Given the description of an element on the screen output the (x, y) to click on. 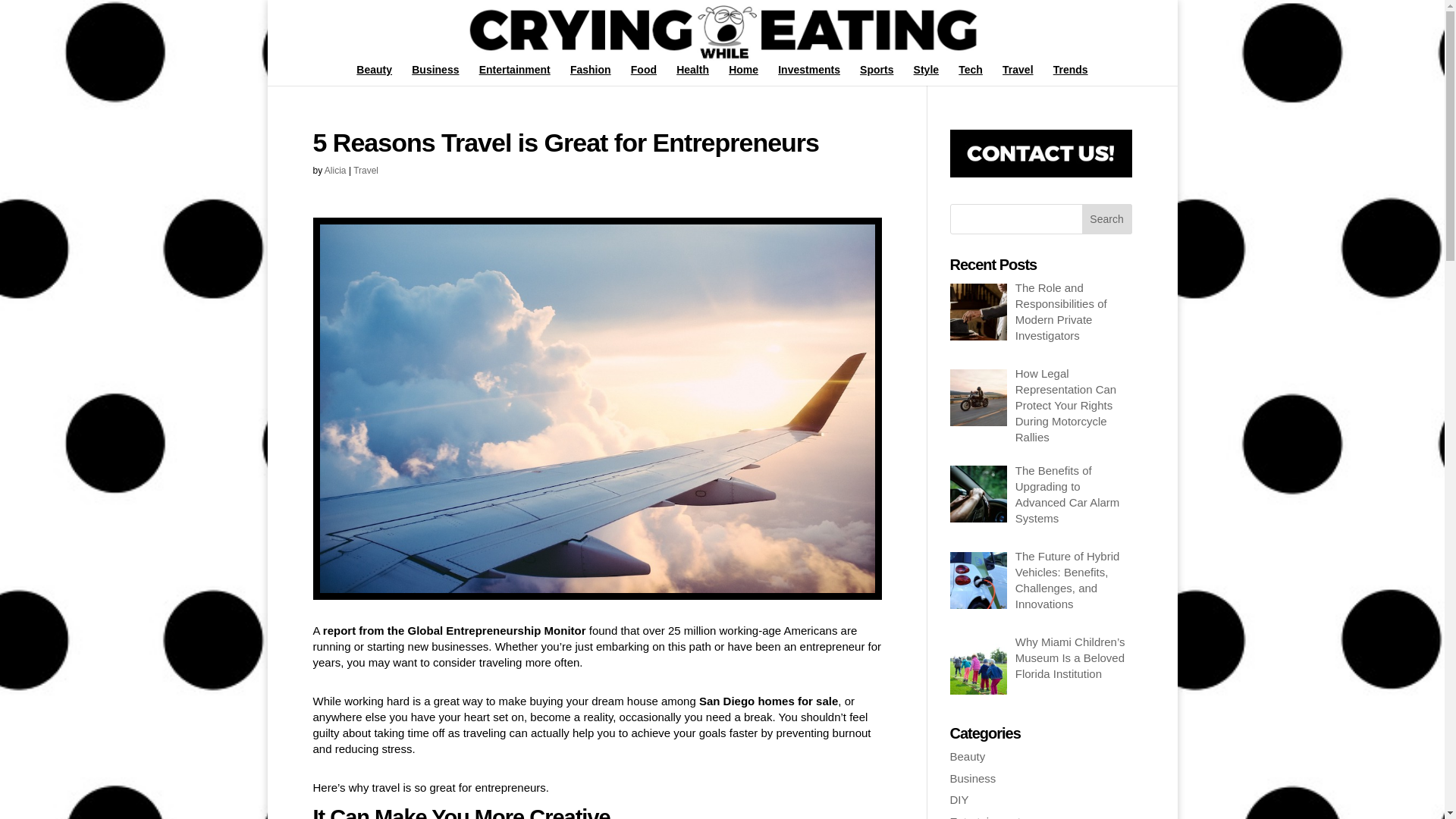
Entertainment (514, 74)
Business (435, 74)
Search (1106, 218)
Home (743, 74)
Style (926, 74)
Investments (808, 74)
Travel (365, 170)
Search (1106, 218)
San Diego homes for sale (768, 700)
Food (643, 74)
Beauty (373, 74)
Health (693, 74)
Trends (1069, 74)
The Benefits of Upgrading to Advanced Car Alarm Systems (1066, 494)
